Given the description of an element on the screen output the (x, y) to click on. 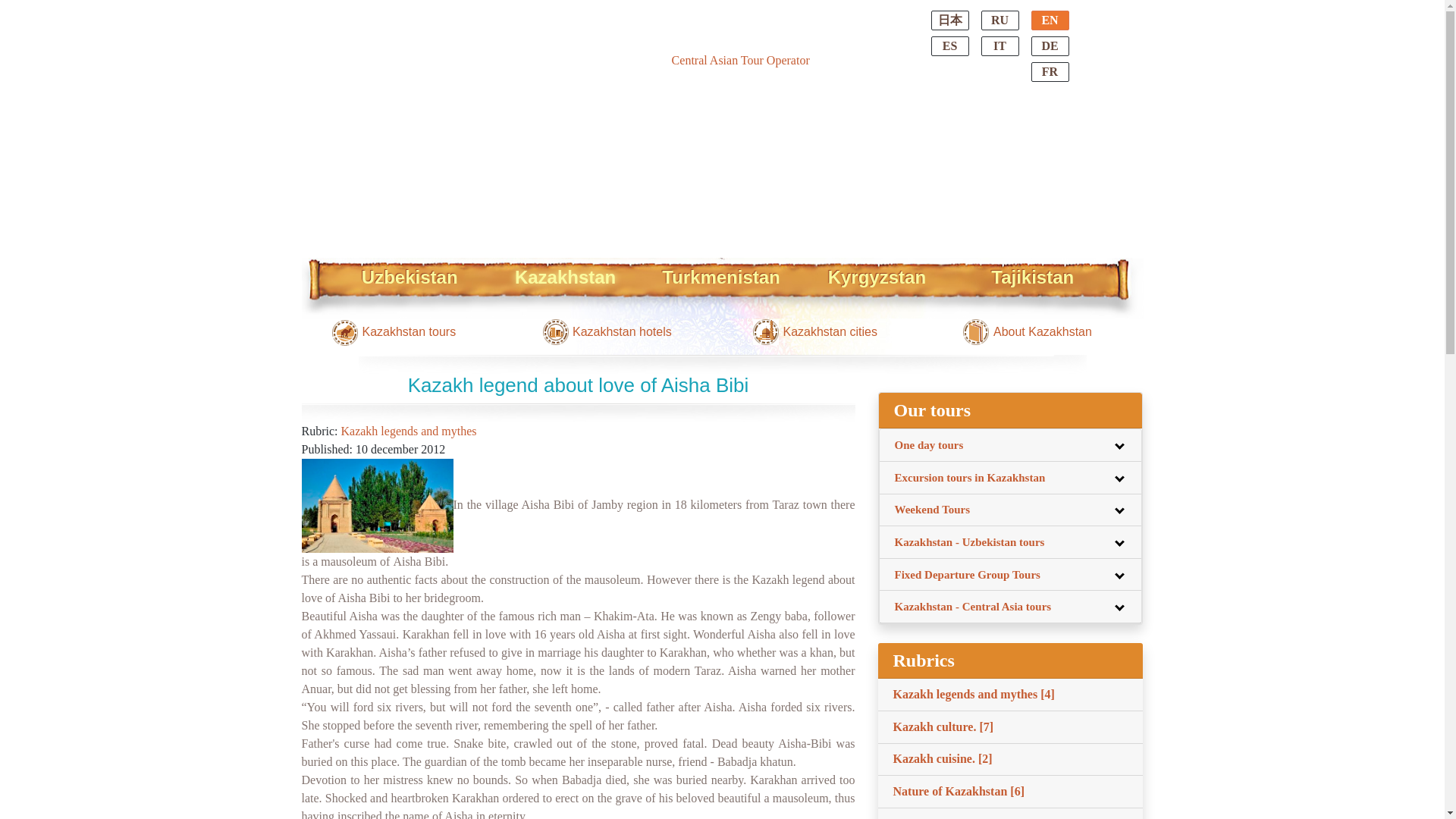
Uzbekistan (409, 270)
Tajikistan (1032, 270)
RU (1000, 19)
Kazakhstan (564, 270)
Central Asian Tour Operator (740, 60)
Tajikistan (1032, 270)
Uzbekistan (409, 270)
DE (1049, 45)
Kazakhstan (564, 270)
Kyrgyzstan (876, 270)
